Given the description of an element on the screen output the (x, y) to click on. 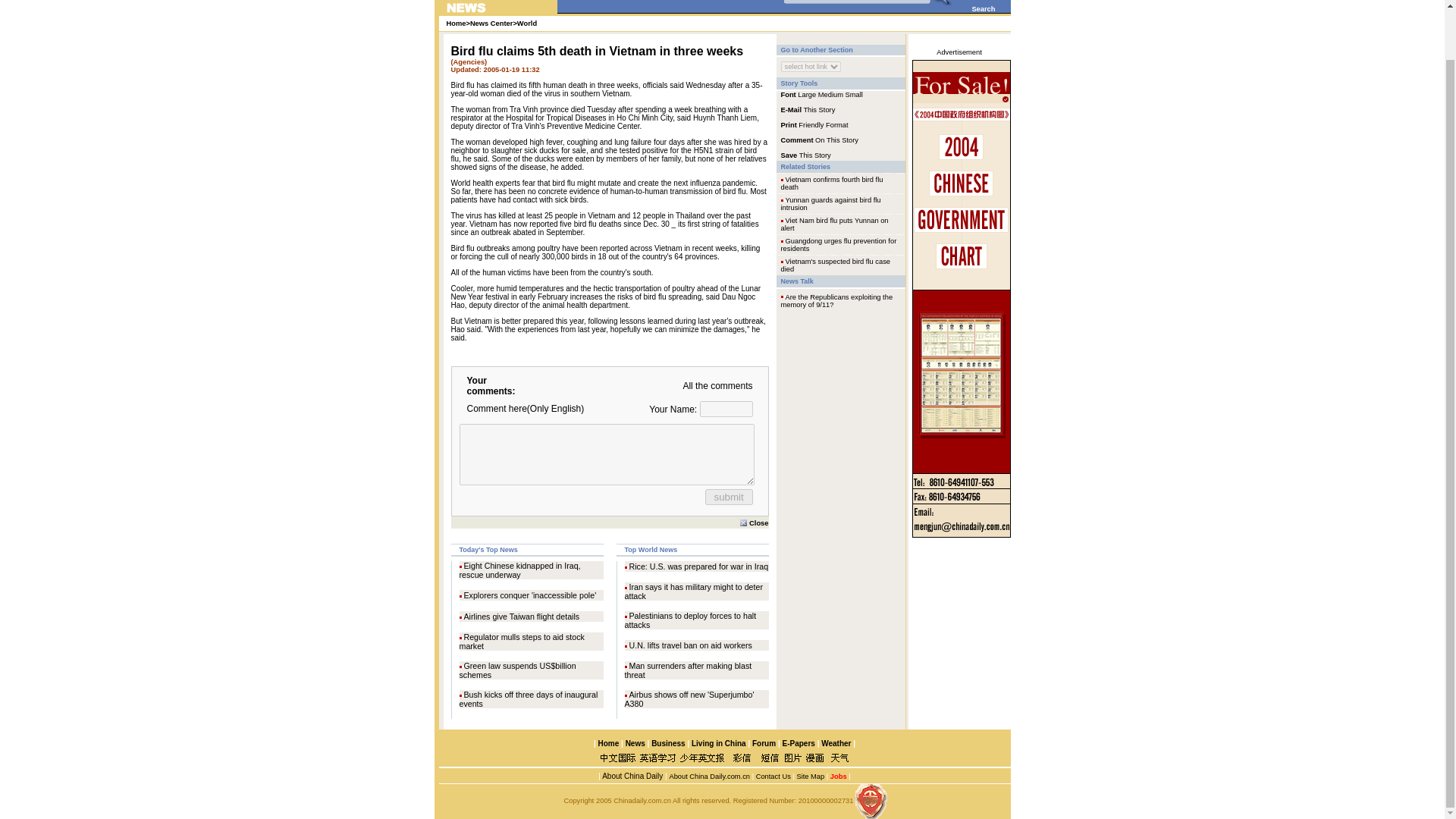
Guangdong urges flu prevention for residents (838, 244)
Rice: U.S. was prepared for war in Iraq (698, 565)
Close (753, 521)
Comment On This Story (819, 139)
About China Daily (630, 776)
U.N. lifts travel ban on aid workers (690, 645)
Forum (764, 743)
Regulator mulls steps to aid stock market (522, 641)
Vietnam confirms fourth bird flu death (831, 183)
News (635, 743)
Save This Story (805, 154)
Weather (834, 743)
Palestinians to deploy forces to halt attacks (690, 619)
All the comments (717, 385)
Home (607, 743)
